Given the description of an element on the screen output the (x, y) to click on. 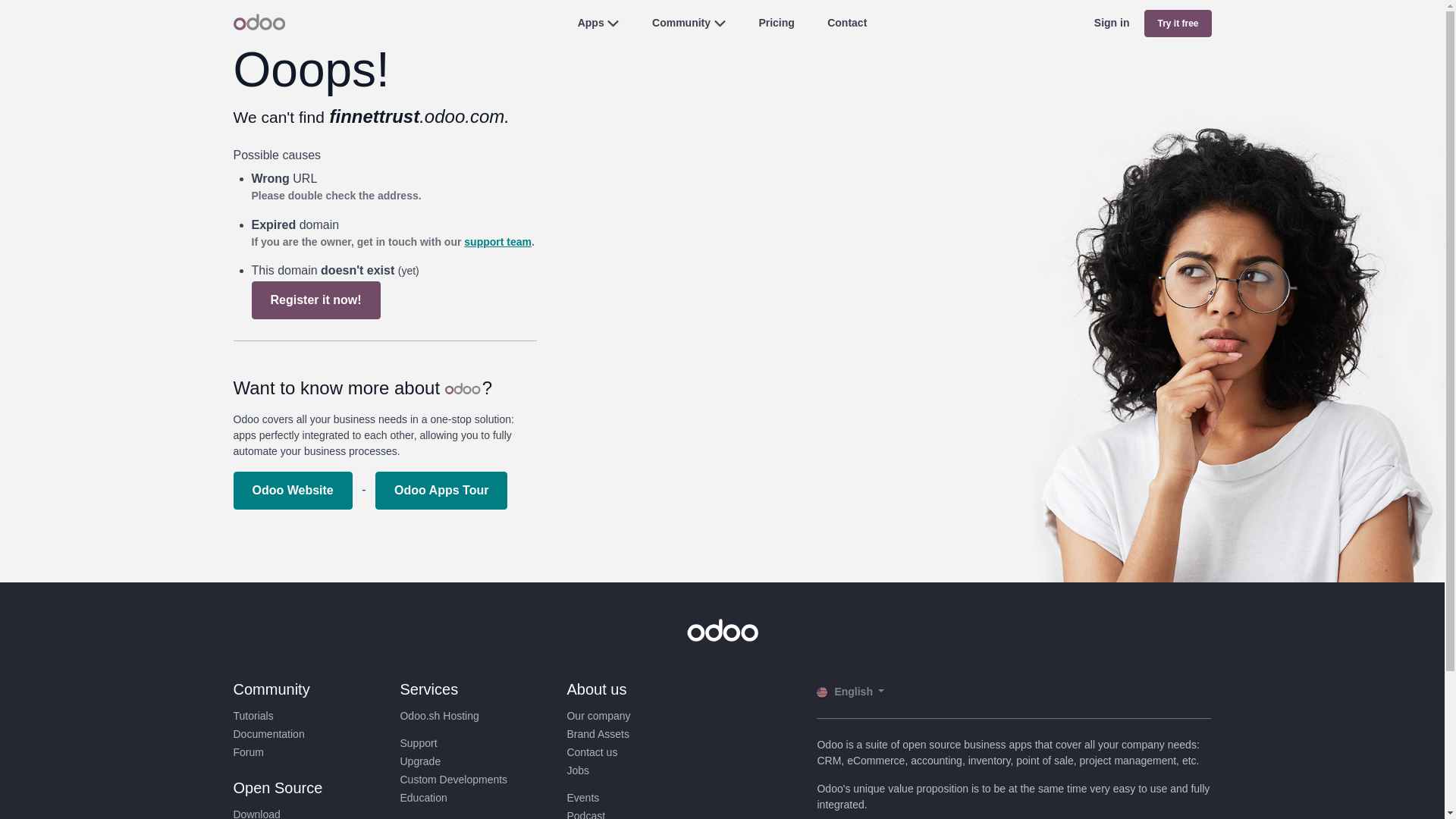
Sign in (1111, 22)
Apps (591, 22)
Try it free (1177, 22)
Odoo (258, 21)
